Given the description of an element on the screen output the (x, y) to click on. 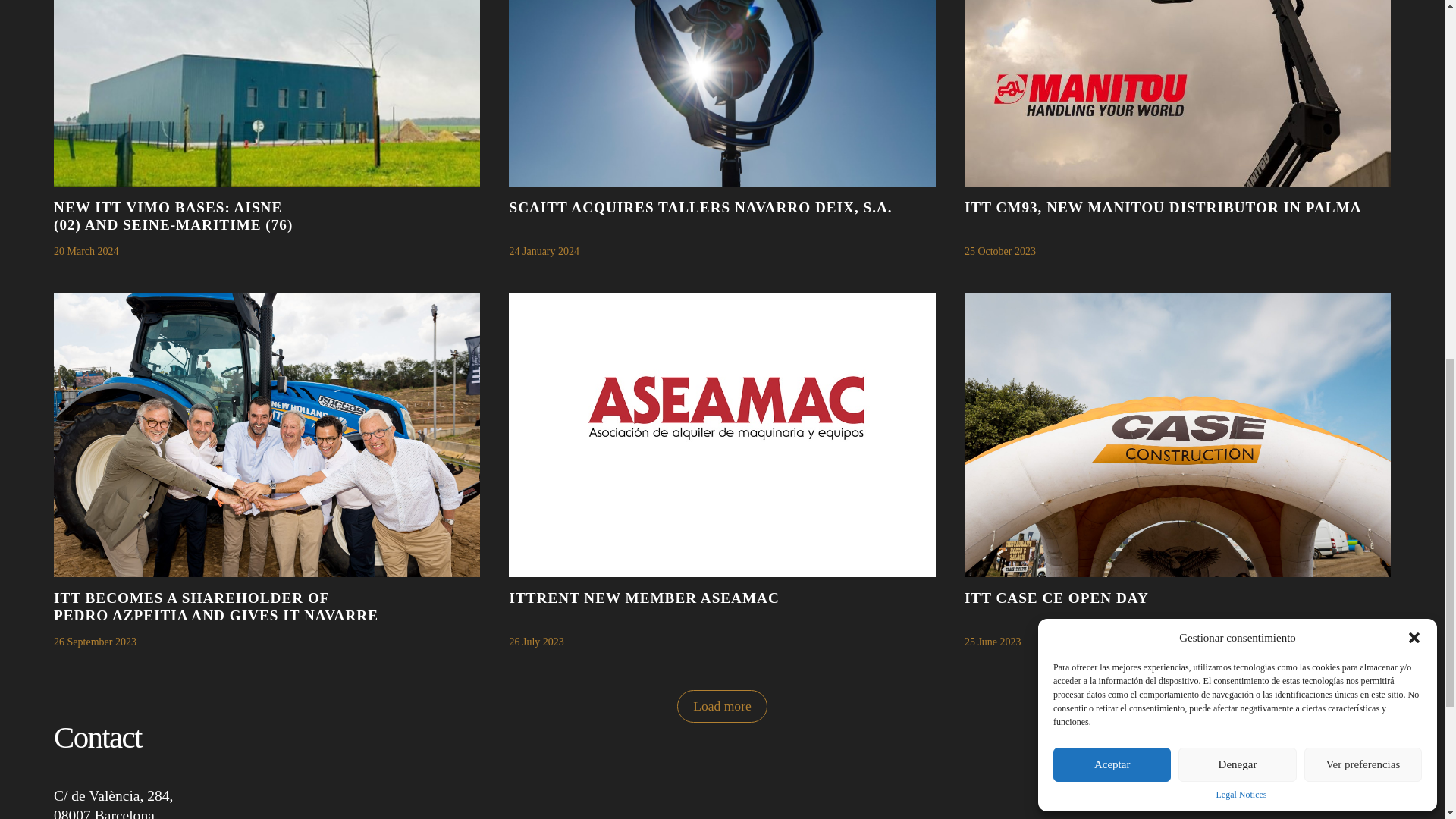
Load more (722, 706)
